Given the description of an element on the screen output the (x, y) to click on. 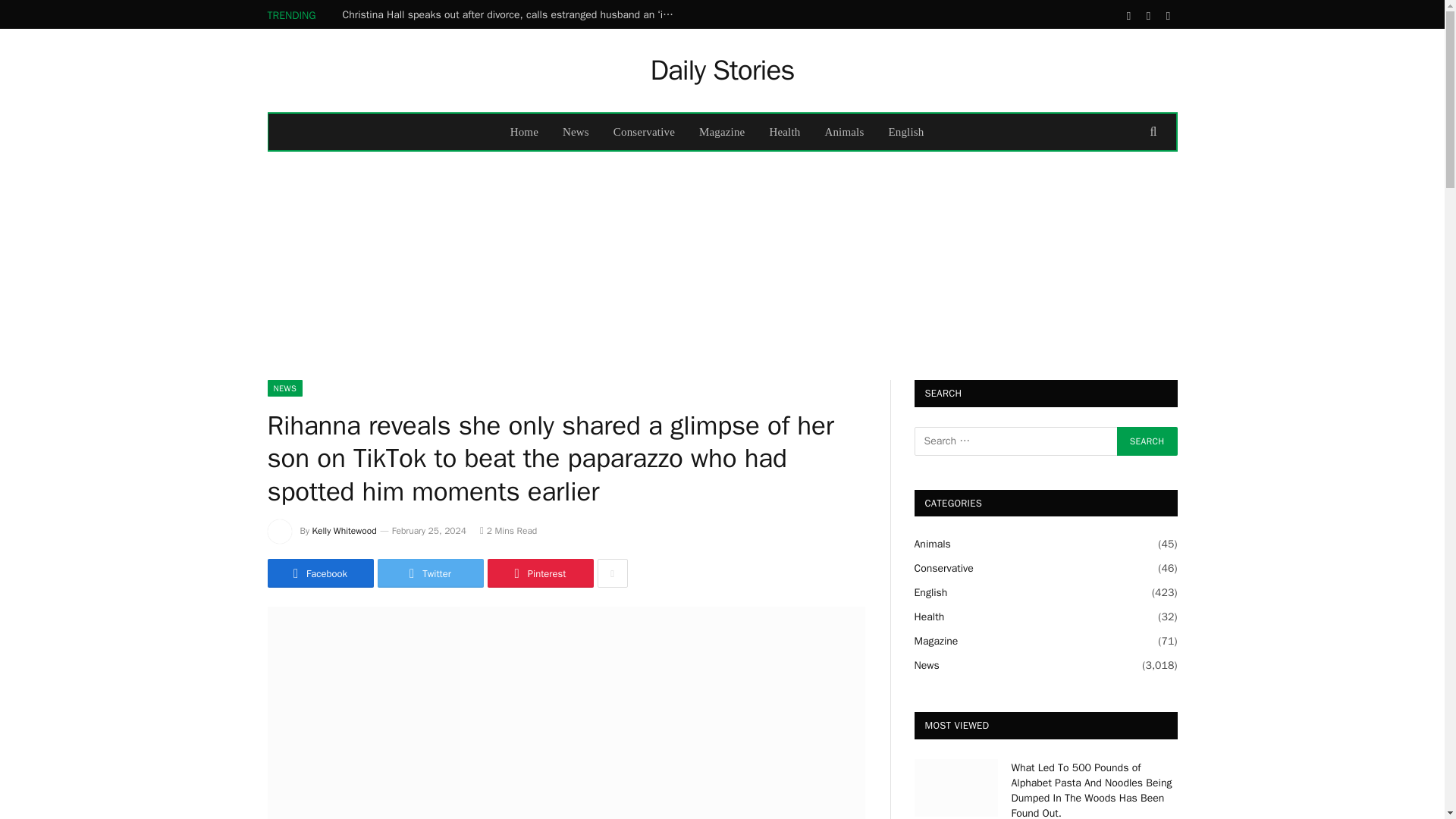
English (906, 131)
Share on Facebook (319, 573)
Daily Stories (721, 70)
Home (523, 131)
Search (1146, 440)
Animals (844, 131)
News (575, 131)
Twitter (430, 573)
Conservative (644, 131)
Kelly Whitewood (345, 530)
Search (1146, 440)
Posts by Kelly Whitewood (345, 530)
Pinterest (539, 573)
NEWS (284, 388)
